Given the description of an element on the screen output the (x, y) to click on. 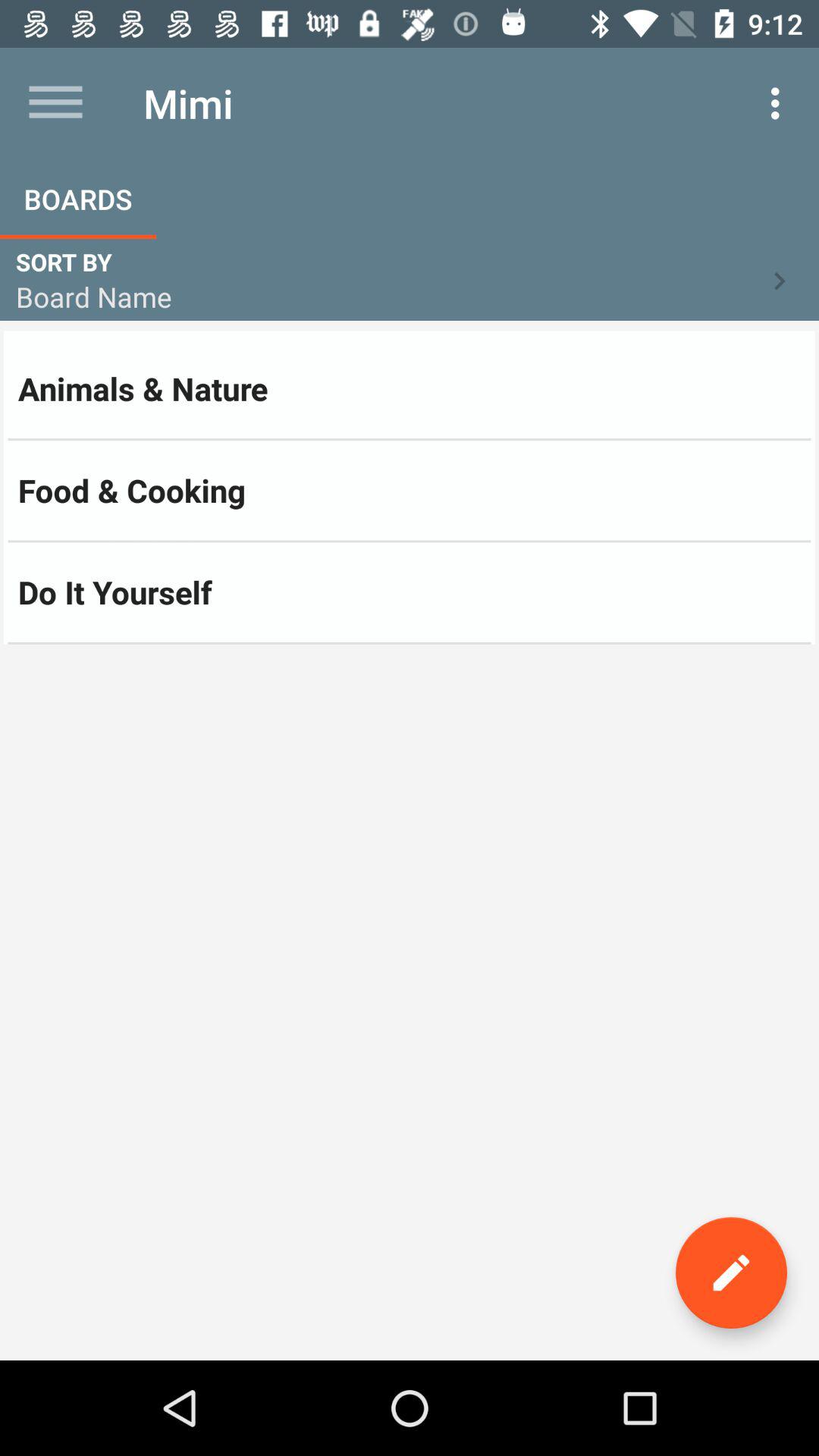
create new (731, 1272)
